Given the description of an element on the screen output the (x, y) to click on. 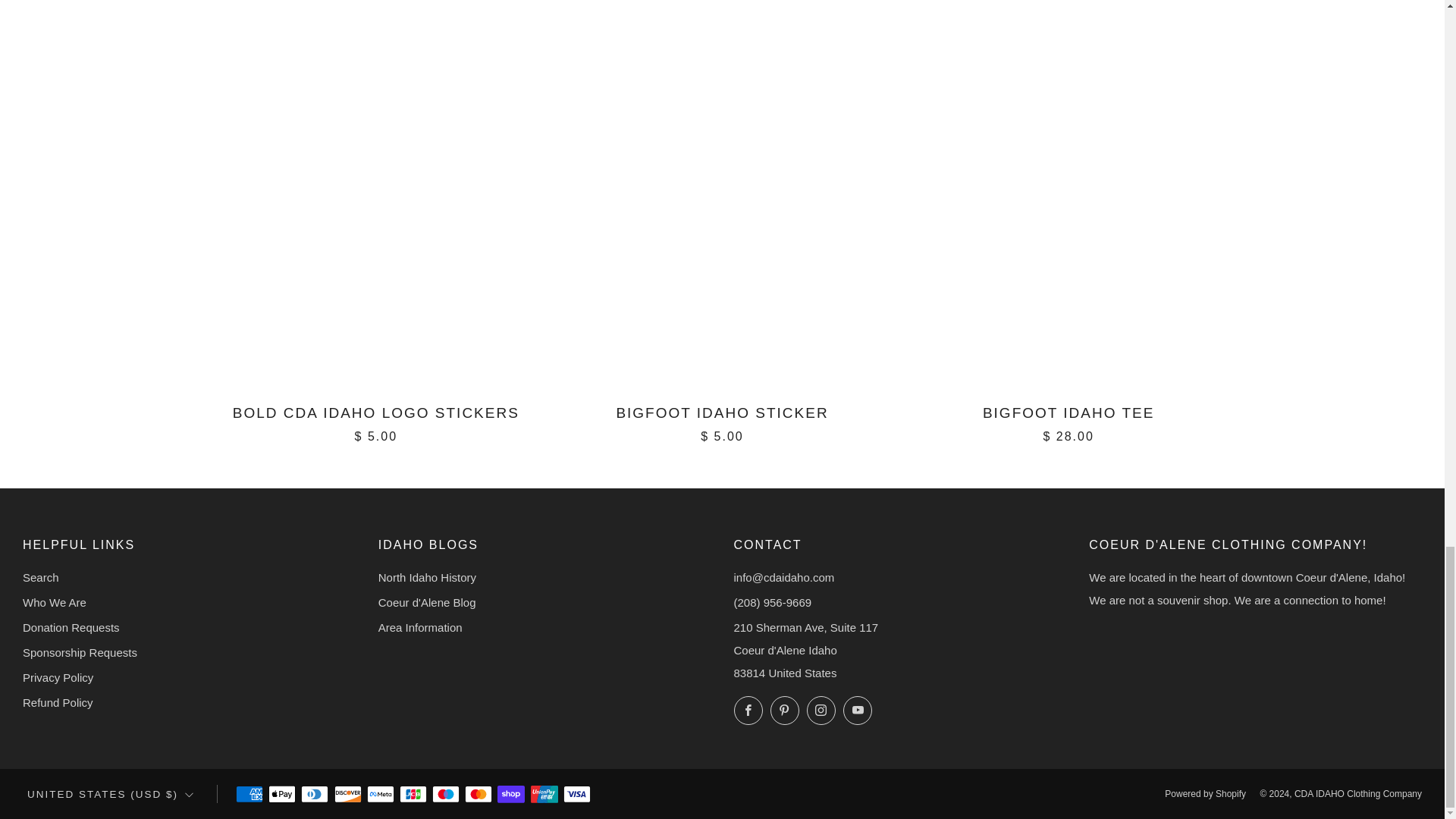
Bold CDA IDAHO Logo Stickers (376, 421)
Bigfoot Idaho Sticker (721, 421)
Bigfoot Idaho Tee (1068, 421)
